Given the description of an element on the screen output the (x, y) to click on. 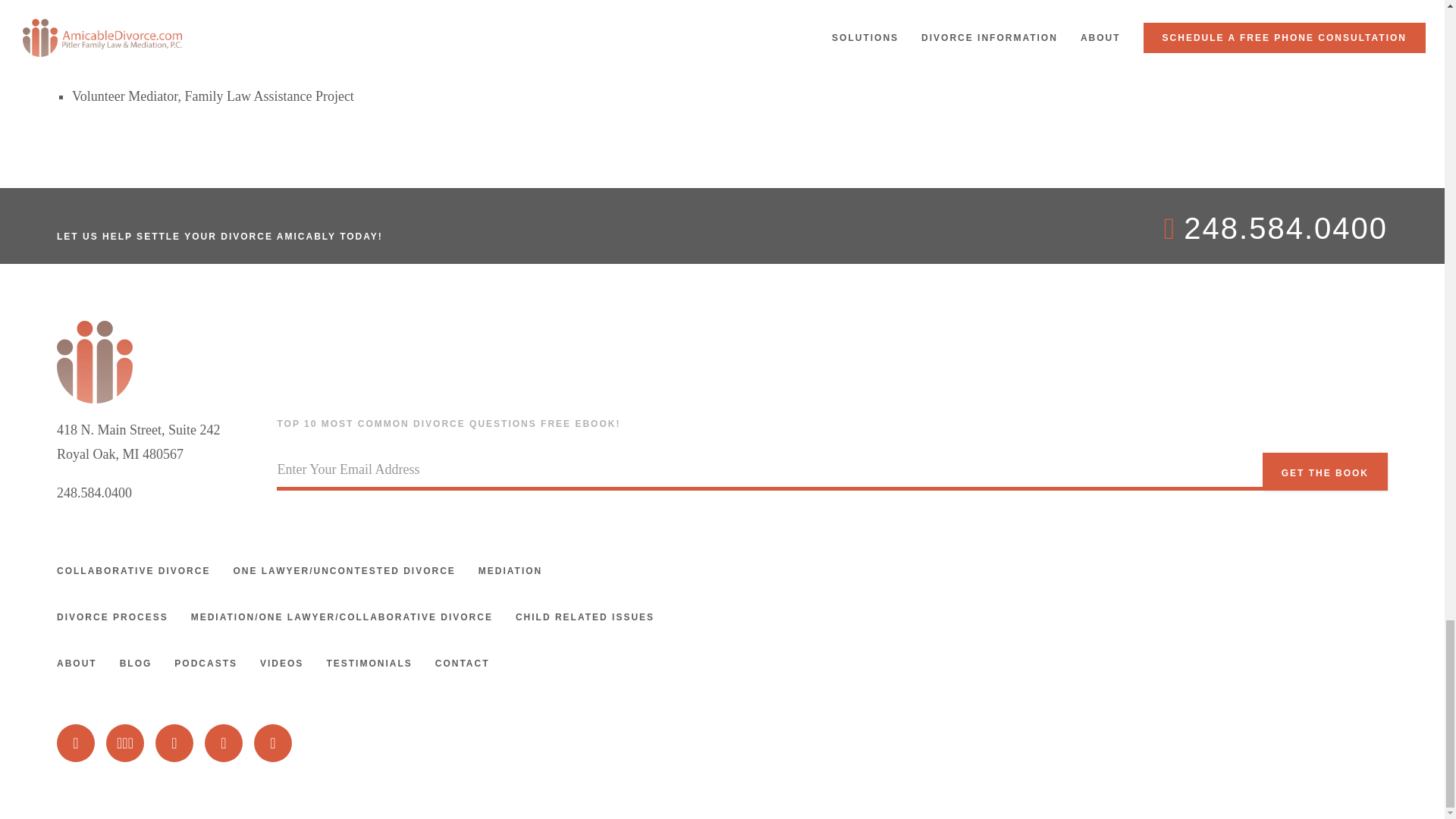
Get the book (1324, 471)
Get the book (1324, 471)
248.584.0400 (94, 492)
